Given the description of an element on the screen output the (x, y) to click on. 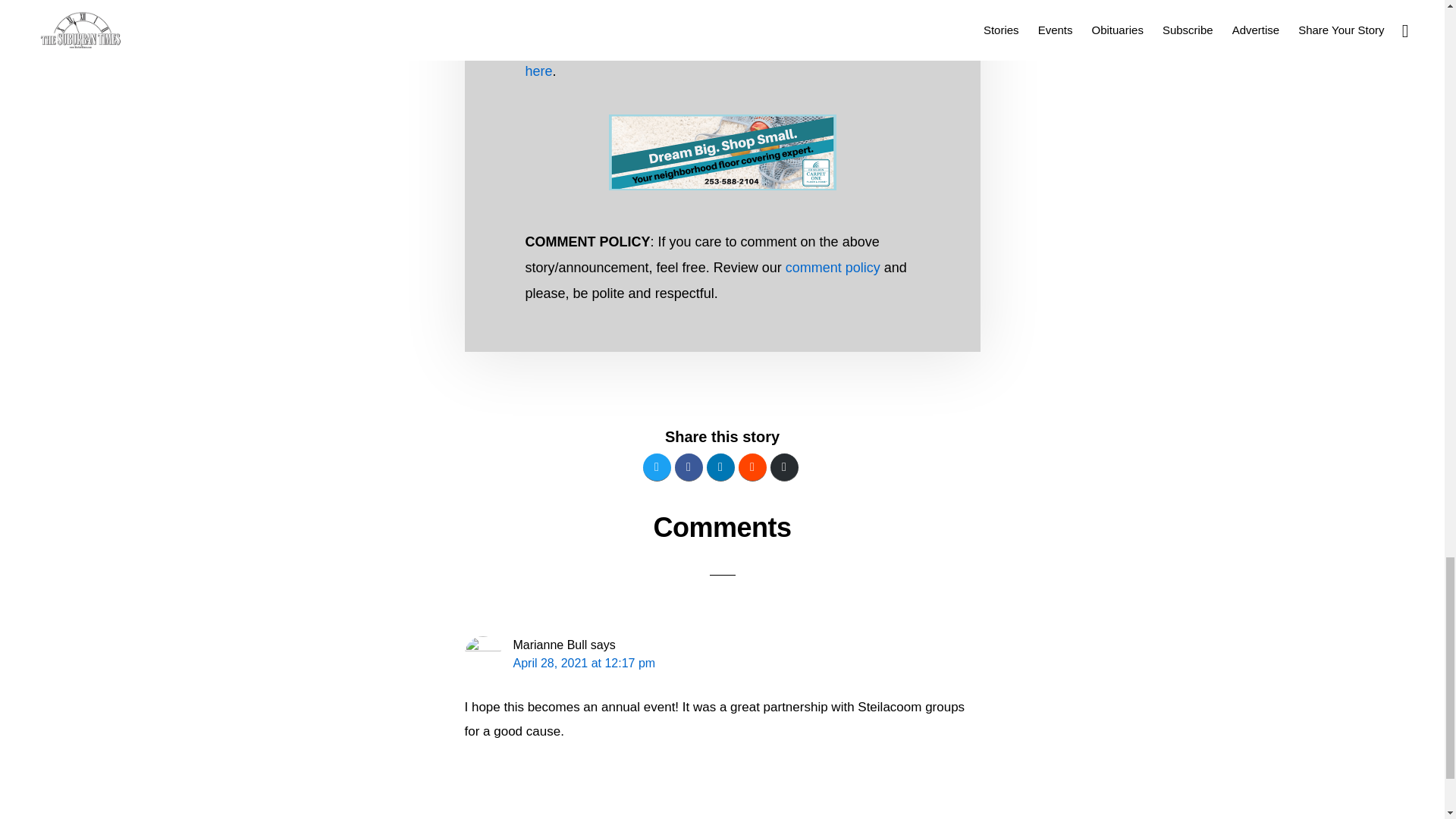
Share via Email (783, 467)
comment policy (833, 267)
April 28, 2021 at 12:17 pm (583, 662)
Share on Twitter (657, 467)
Share on LinkedIn (720, 467)
Share on Facebook (689, 467)
Share on Facebook (689, 467)
Share on Reddit (752, 467)
Share via Email (783, 467)
Share on LinkedIn (720, 467)
Share on Reddit (752, 467)
Sign up here (719, 57)
Share on Twitter (657, 467)
